Given the description of an element on the screen output the (x, y) to click on. 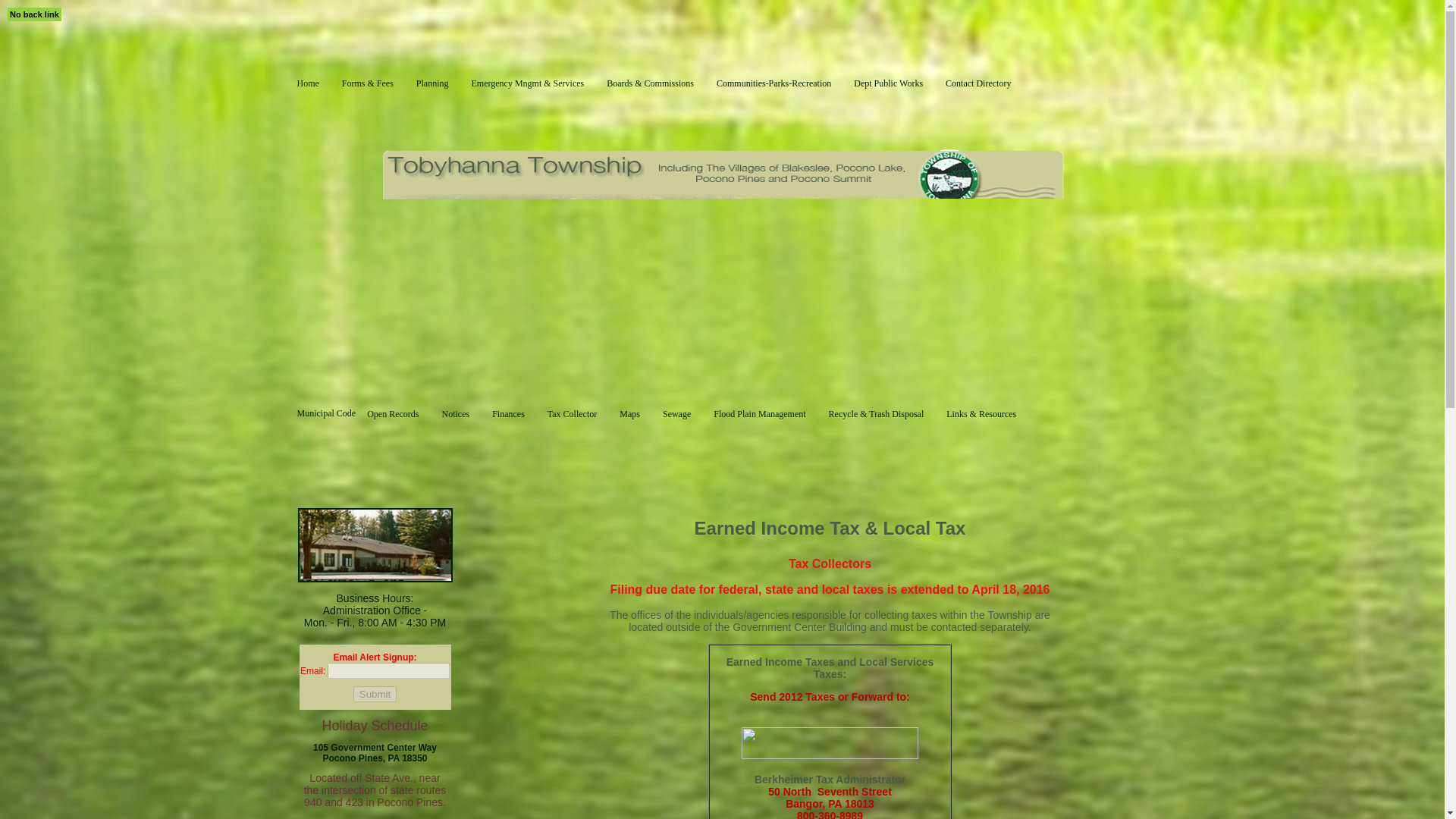
Submit (374, 693)
Home (307, 101)
Planning (432, 101)
Communities-Parks-Recreation (773, 101)
